Given the description of an element on the screen output the (x, y) to click on. 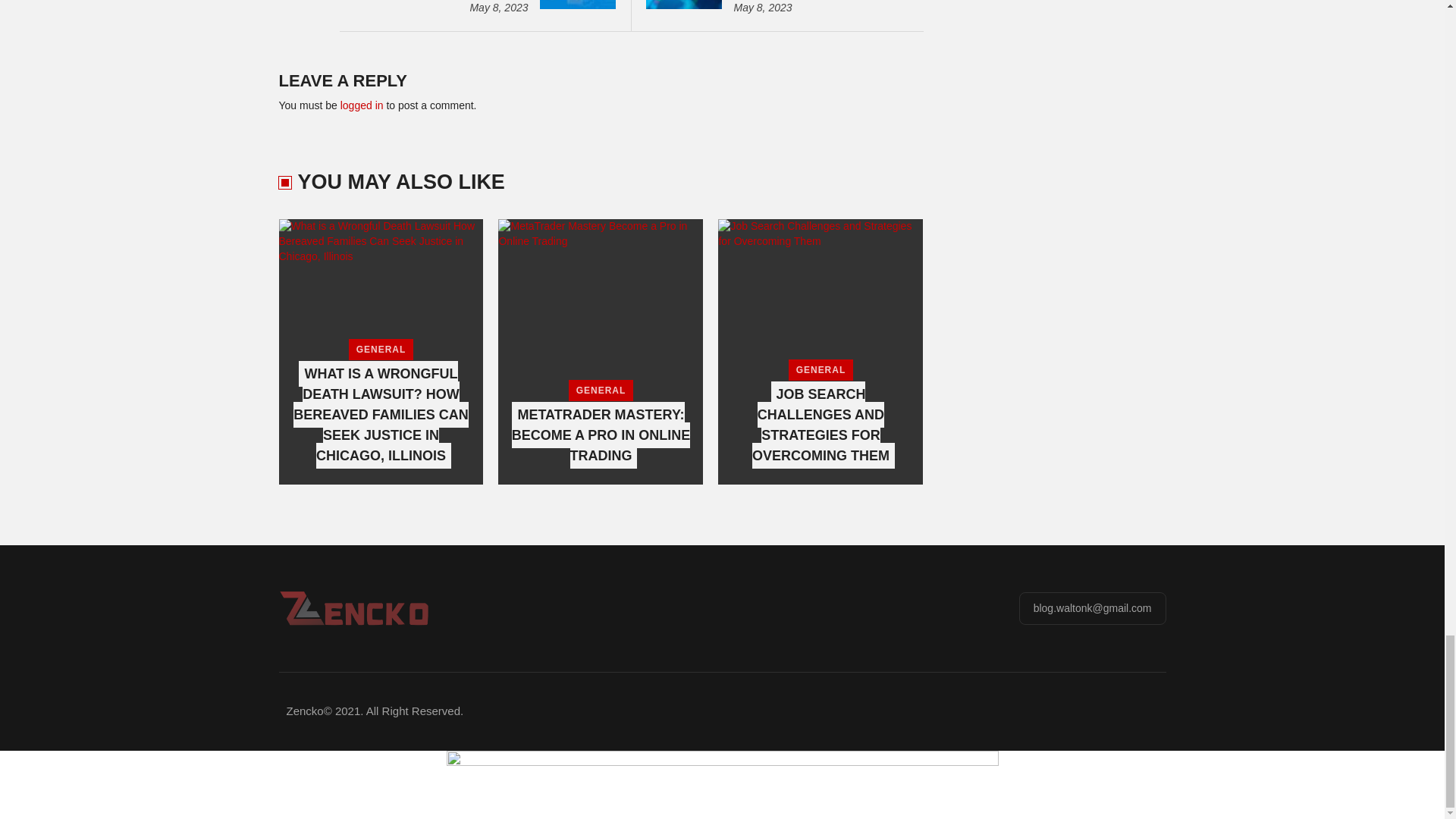
6 Things You Must Check When Getting a Video Feedback Tool 1 (577, 4)
